Given the description of an element on the screen output the (x, y) to click on. 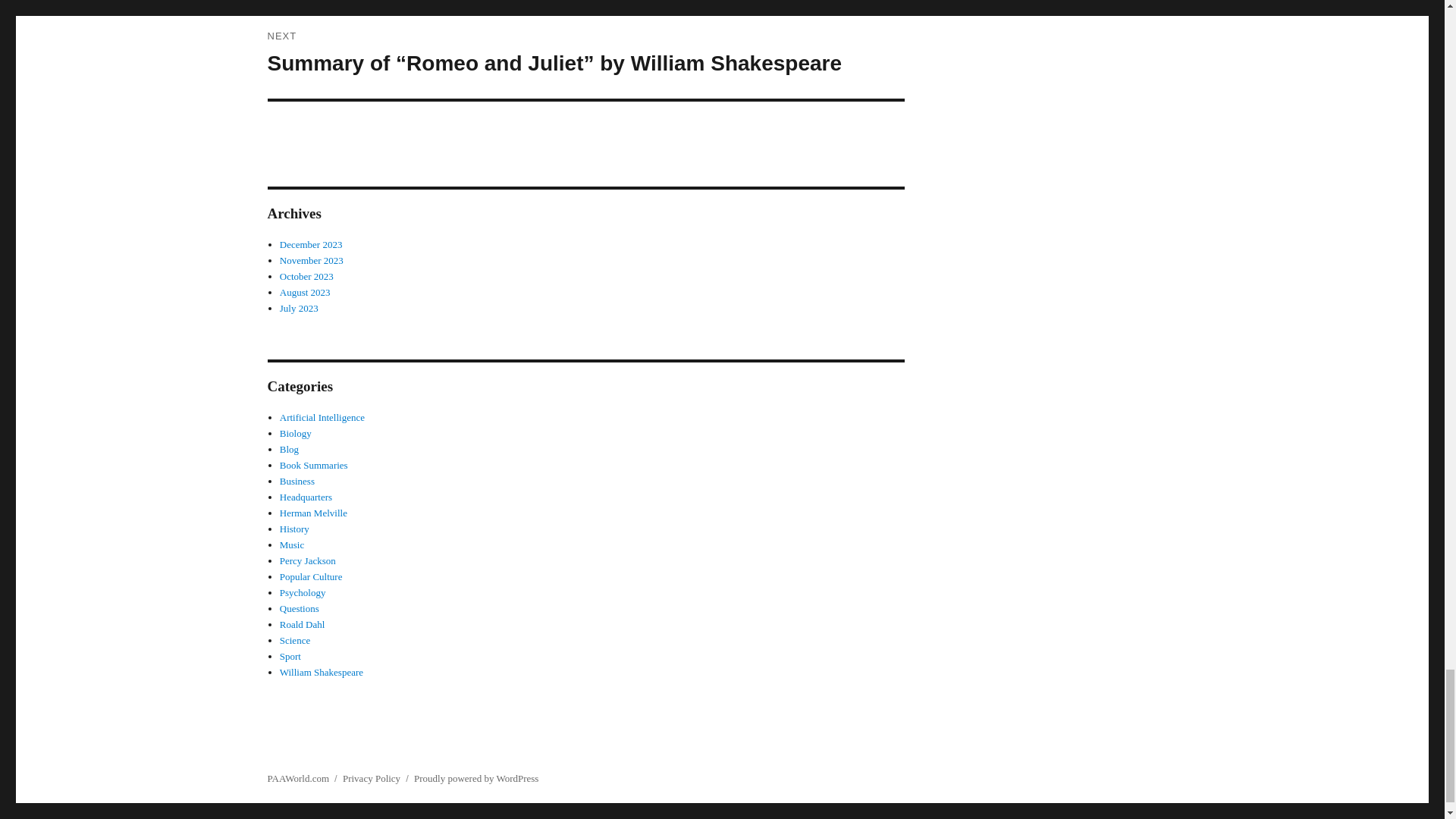
Biology (295, 432)
December 2023 (310, 244)
November 2023 (311, 260)
July 2023 (298, 307)
August 2023 (304, 292)
Blog (288, 449)
Artificial Intelligence (322, 417)
Book Summaries (313, 464)
October 2023 (306, 276)
